Given the description of an element on the screen output the (x, y) to click on. 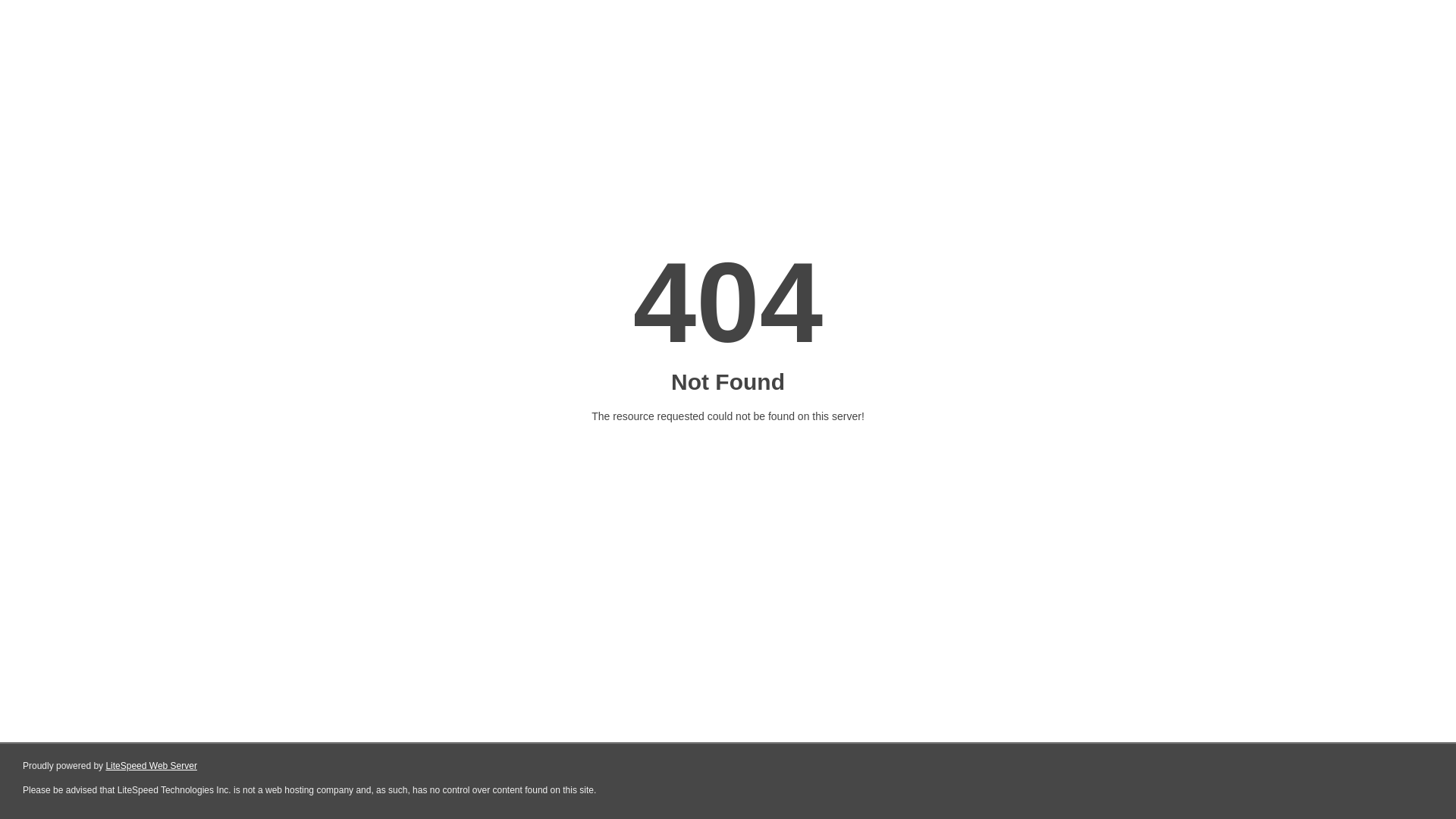
LiteSpeed Web Server Element type: text (151, 765)
